Given the description of an element on the screen output the (x, y) to click on. 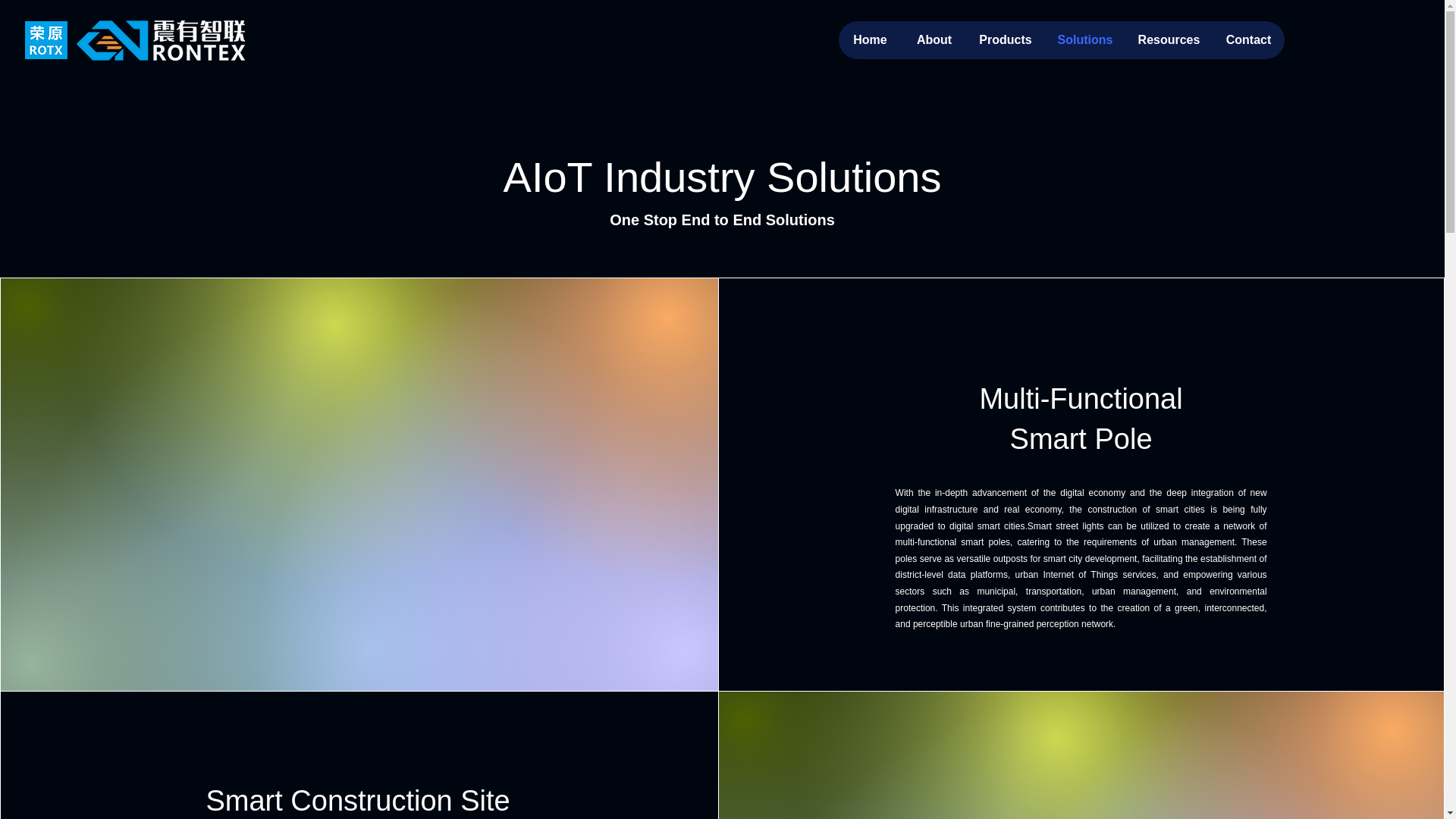
Products (1004, 39)
Home (869, 39)
About (933, 39)
Resources (1168, 39)
Solutions (1084, 39)
Contact (1247, 39)
